Given the description of an element on the screen output the (x, y) to click on. 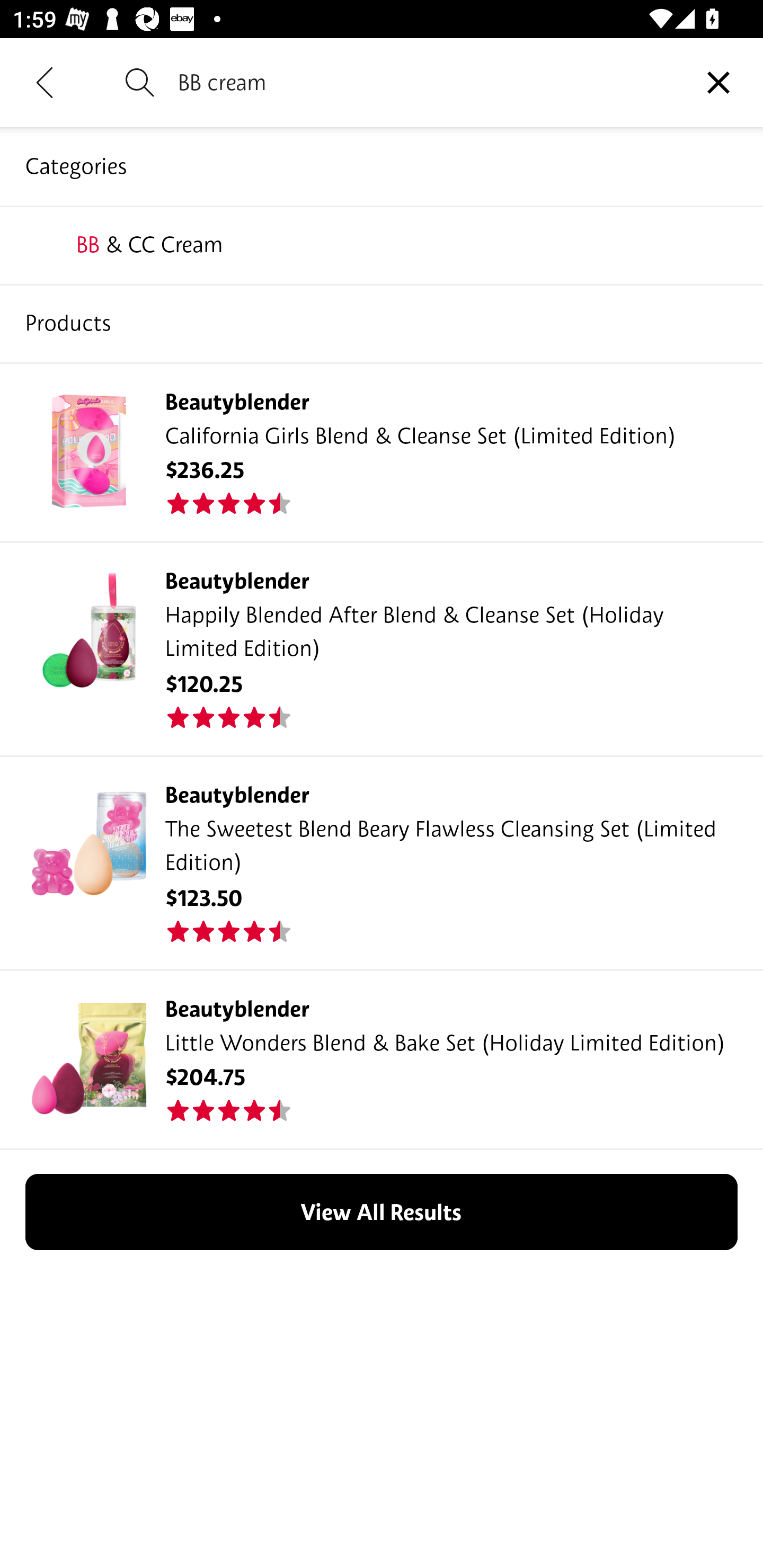
Navigate up (44, 82)
Clear query (718, 81)
BB cream (425, 82)
sephora collection (381, 244)
rare beauty (381, 322)
View All Results (381, 1211)
